Given the description of an element on the screen output the (x, y) to click on. 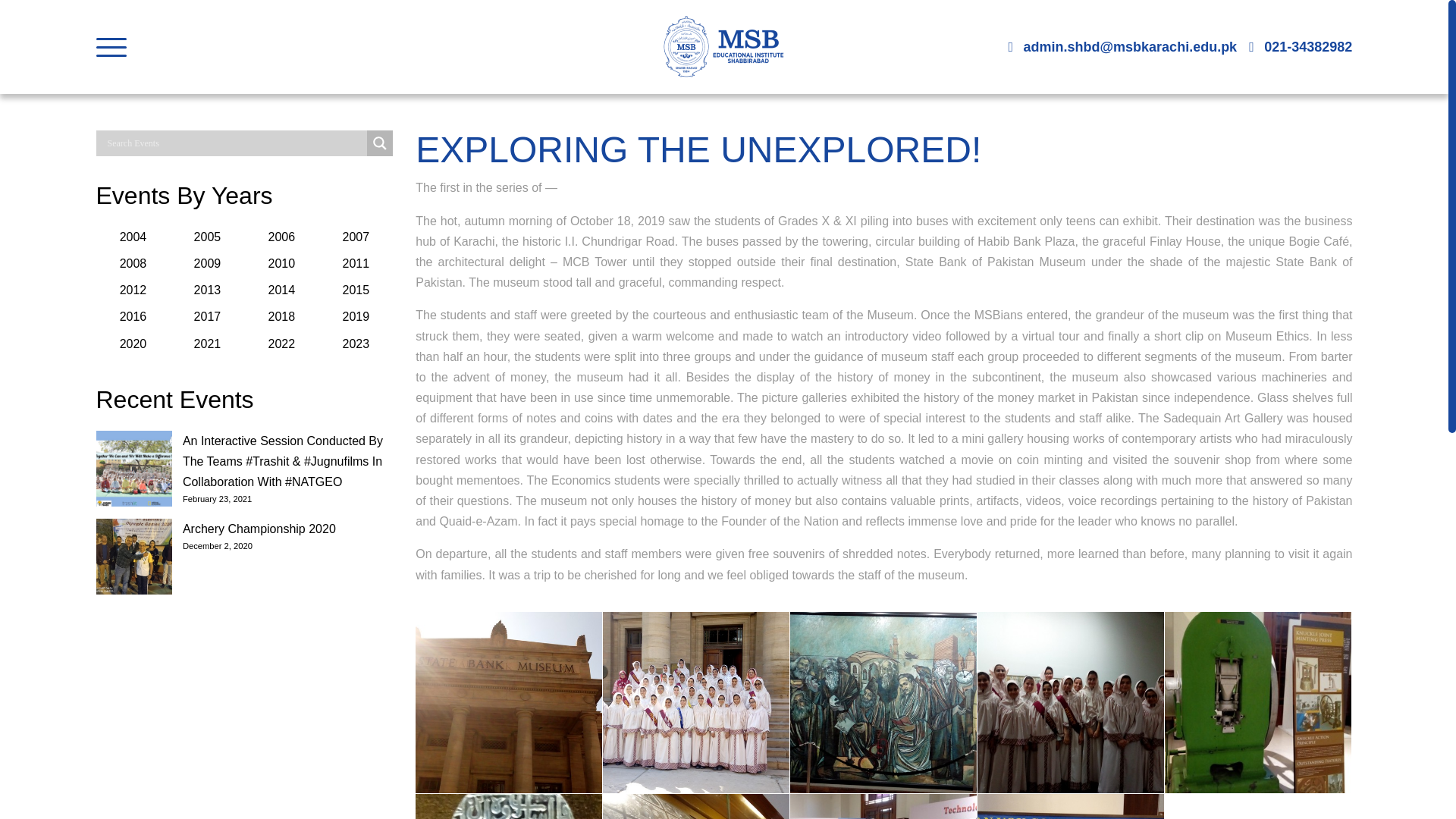
exploring-the-unexplored-07 (695, 806)
exploring-the-unexplored-01 (508, 702)
021-34382982 (1307, 46)
exploring-the-unexplored-04 (1069, 702)
exploring-the-unexplored-09 (1069, 806)
exploring-the-unexplored-06 (508, 806)
exploring-the-unexplored-05 (1257, 702)
exploring-the-unexplored-03 (883, 702)
exploring-the-unexplored-08 (883, 806)
exploring-the-unexplored-02 (695, 702)
